Given the description of an element on the screen output the (x, y) to click on. 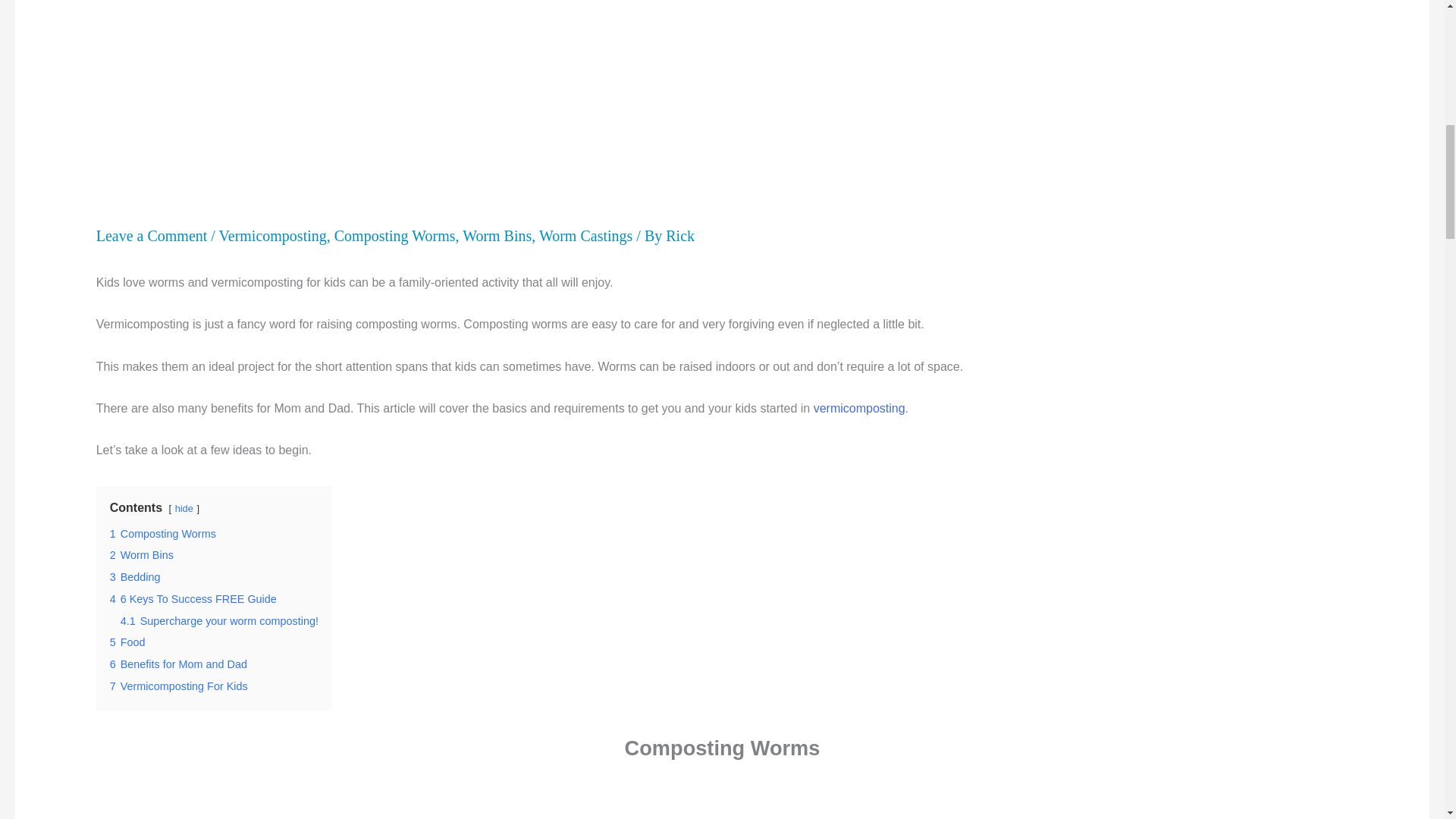
3 Bedding (135, 576)
View all posts by Rick (679, 235)
4 6 Keys To Success FREE Guide (193, 598)
Vermicomposting (272, 235)
7 Vermicomposting For Kids (178, 686)
Rick (679, 235)
5 Food (127, 642)
2 Worm Bins (141, 554)
1 Composting Worms (162, 533)
Worm Bins (497, 235)
Composting Worms (394, 235)
Leave a Comment (152, 235)
Worm Castings (584, 235)
vermicomposting (859, 408)
6 Benefits for Mom and Dad (178, 664)
